Given the description of an element on the screen output the (x, y) to click on. 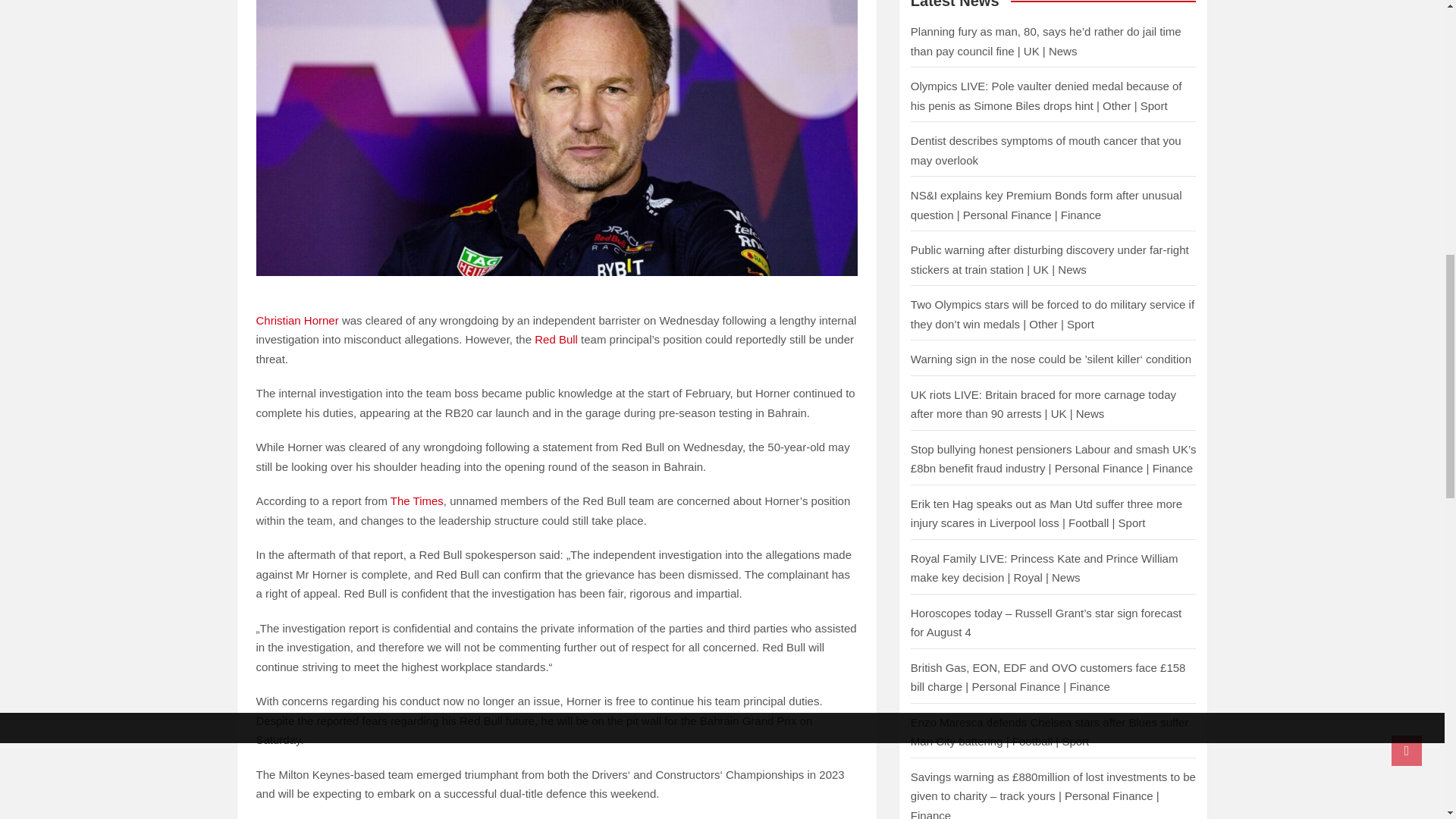
Red Bull (556, 338)
Christian Horner (297, 319)
The Times (417, 500)
